Given the description of an element on the screen output the (x, y) to click on. 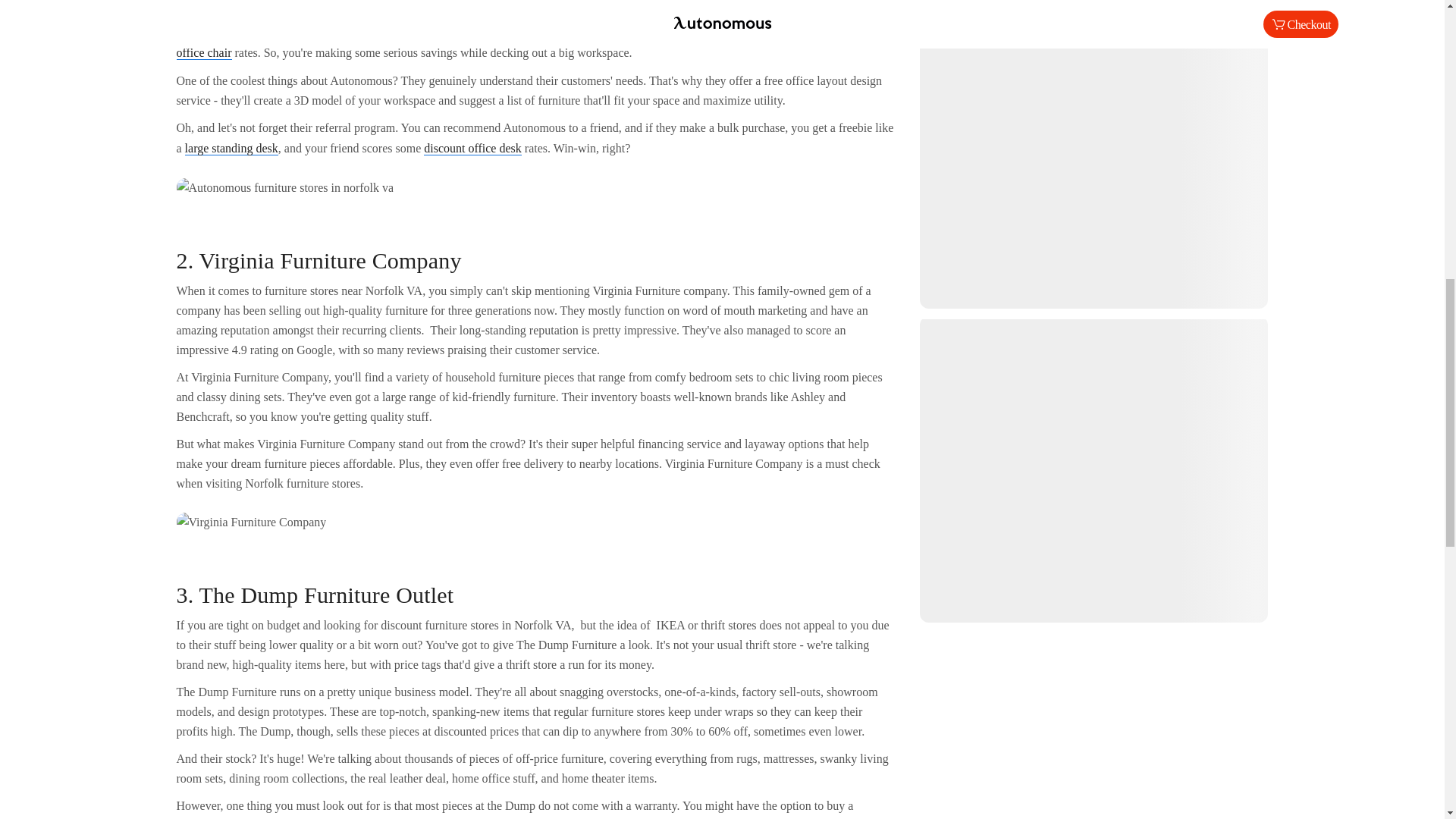
wholesale office chair (532, 42)
discount office desk (472, 148)
large standing desk (231, 148)
wholesale office furniture (516, 31)
standing desks (812, 4)
